Given the description of an element on the screen output the (x, y) to click on. 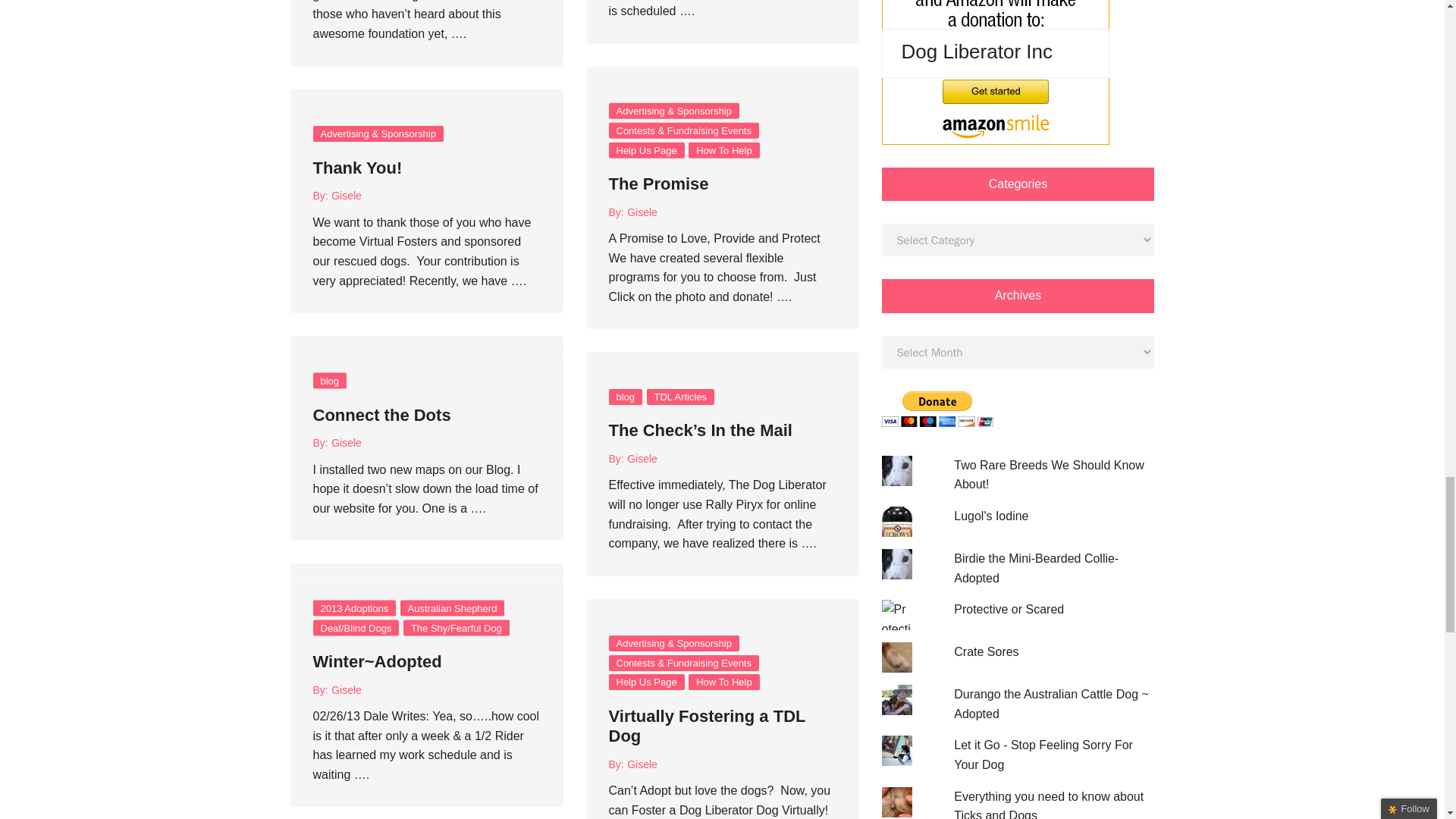
Birdie the Mini-Bearded Collie-Adopted (1035, 568)
Lugol's Iodine (990, 515)
Crate Sores (985, 651)
Protective or Scared (1008, 608)
Two Rare Breeds We Should Know About! (1048, 474)
